Given the description of an element on the screen output the (x, y) to click on. 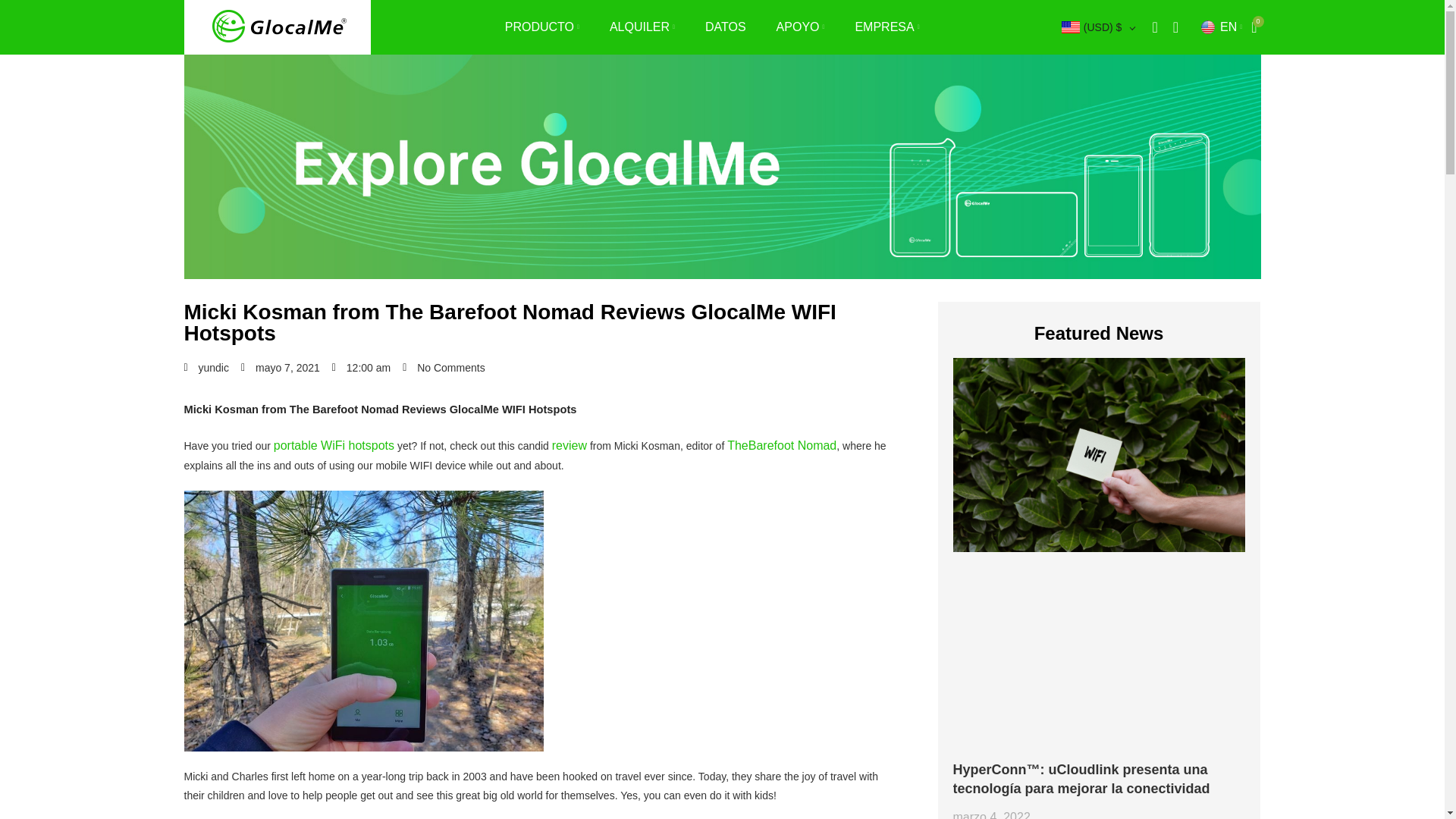
DATOS (724, 27)
1620380079351759.jpg (363, 620)
ALQUILER (642, 27)
en (1207, 27)
PRODUCTO (542, 27)
